Given the description of an element on the screen output the (x, y) to click on. 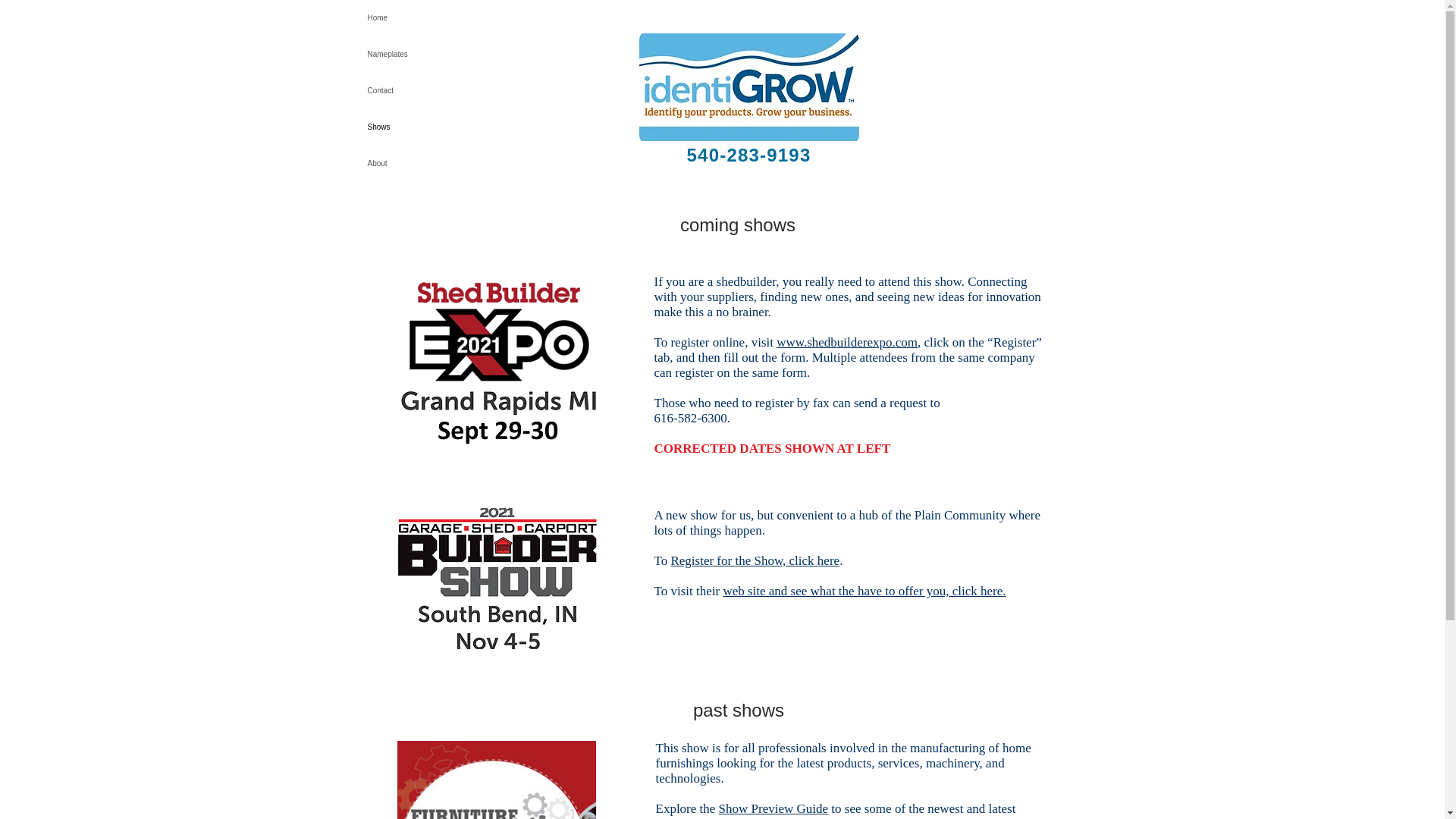
About (399, 163)
Show Preview Guide (773, 808)
web site and see what the have to offer you, click here. (864, 590)
www.shedbuilderexpo.com (846, 341)
Contact (399, 90)
Home (399, 18)
Register for the Show, click here (754, 560)
Shows (399, 126)
